Given the description of an element on the screen output the (x, y) to click on. 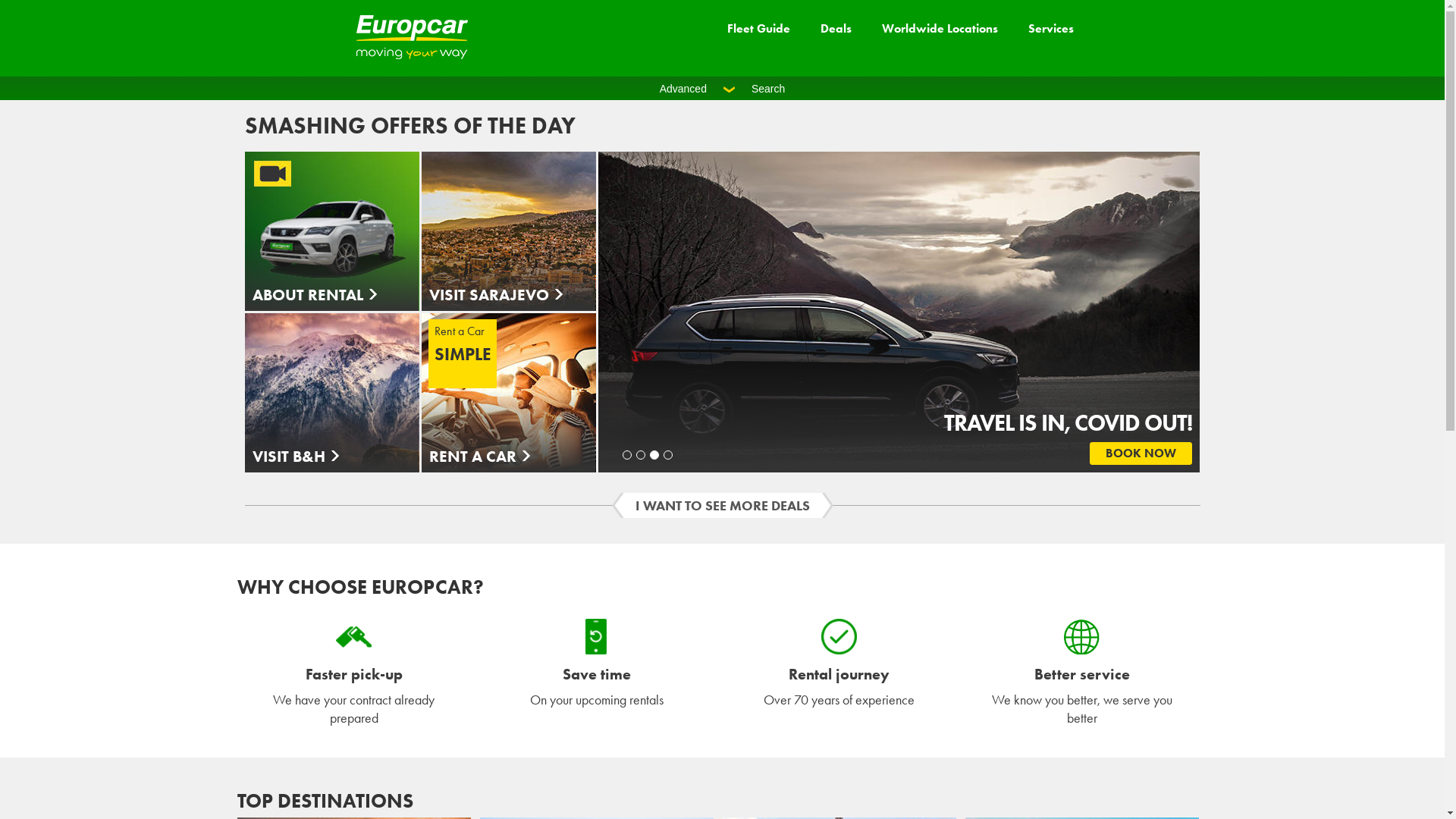
Fleet Guide Element type: text (757, 28)
Services Element type: text (1050, 28)
VISIT B&H Element type: text (331, 392)
I WANT TO SEE MORE DEALS Element type: text (721, 504)
VISIT SARAJEVO Element type: text (508, 230)
Worldwide Locations Element type: text (939, 28)
Deals Element type: text (835, 28)
NEW SERVICES INTRODUCED
BOOK NOW Element type: text (891, 311)
